Given the description of an element on the screen output the (x, y) to click on. 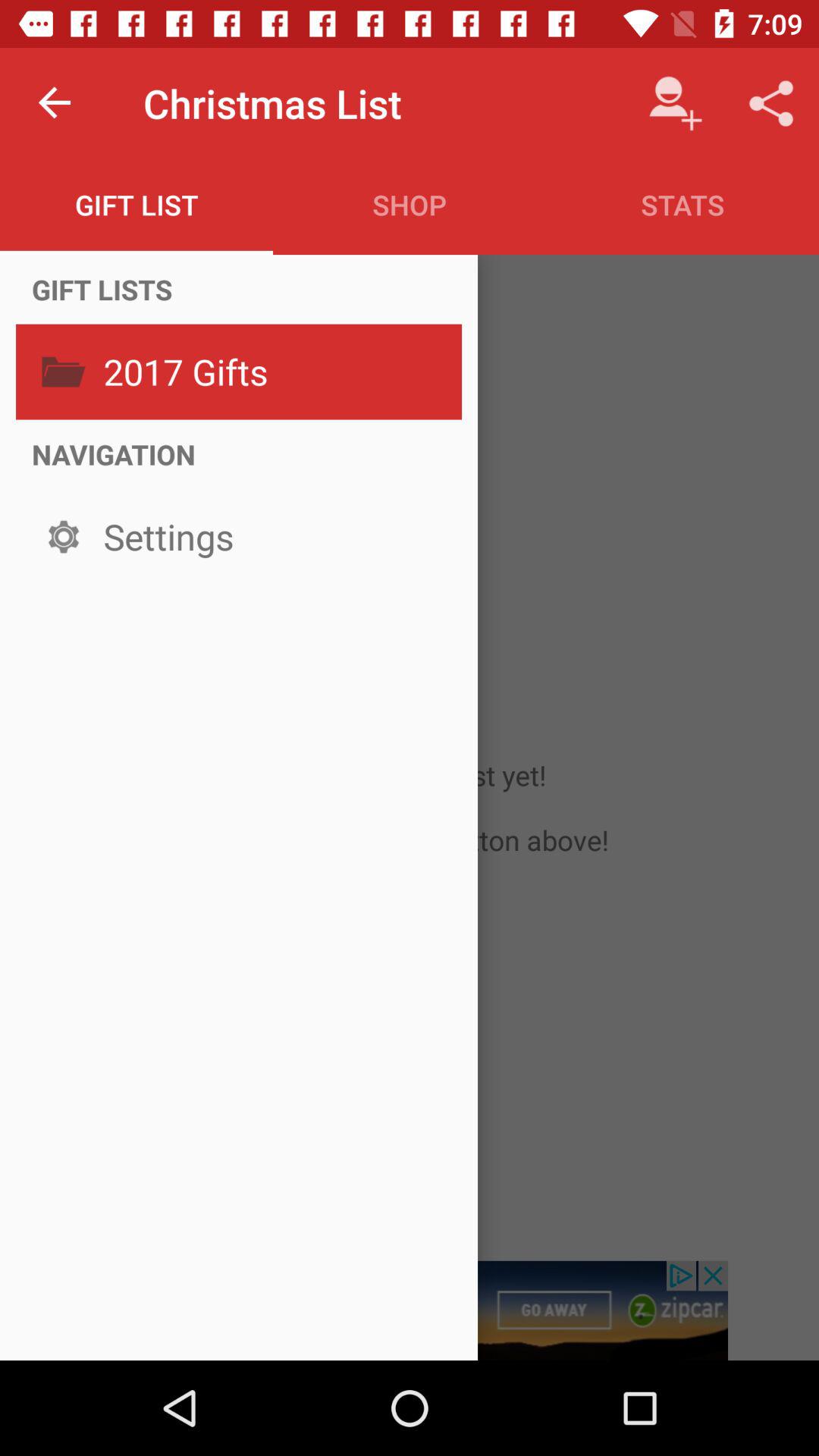
turn on icon to the left of shop item (136, 204)
